Given the description of an element on the screen output the (x, y) to click on. 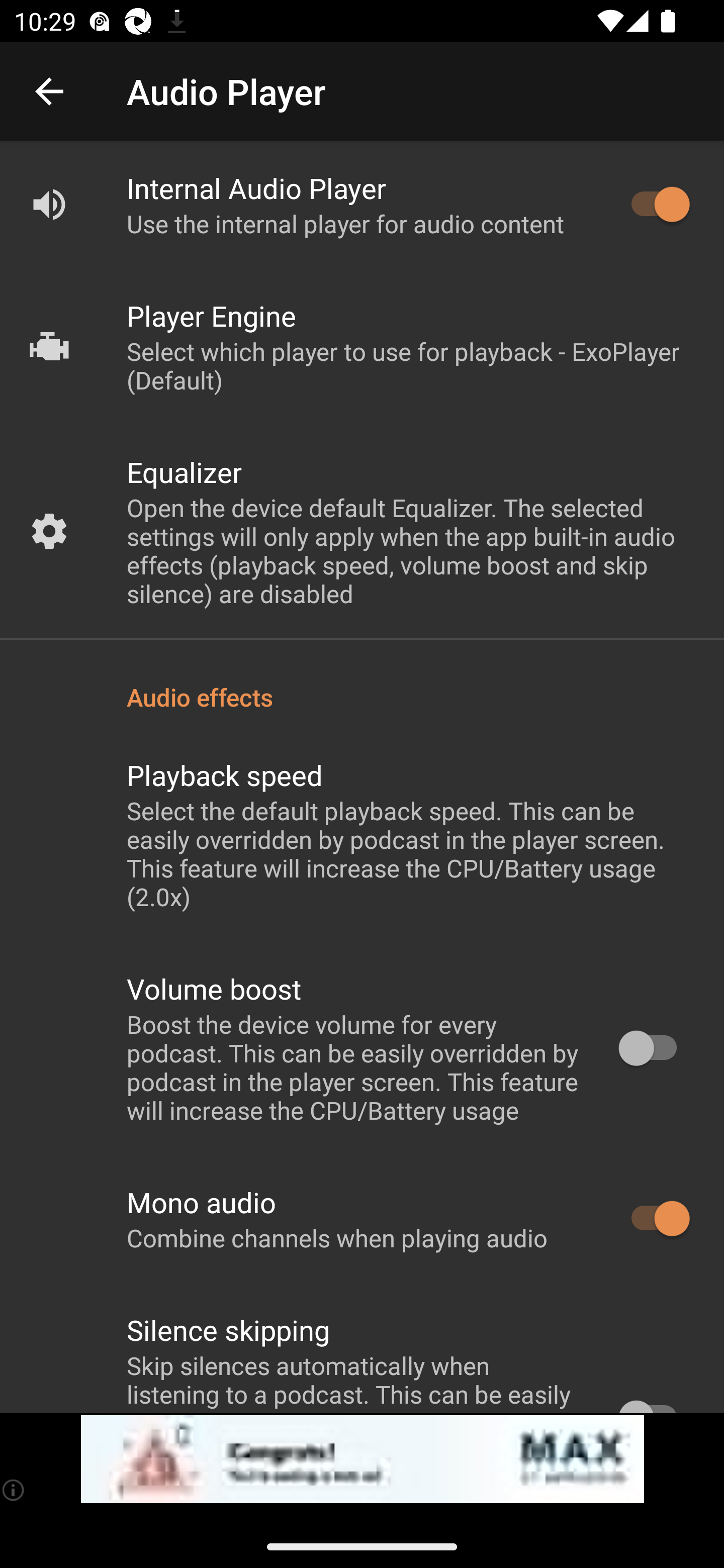
Navigate up (49, 91)
Mono audio Combine channels when playing audio (362, 1218)
app-monetization (362, 1459)
(i) (14, 1489)
